Given the description of an element on the screen output the (x, y) to click on. 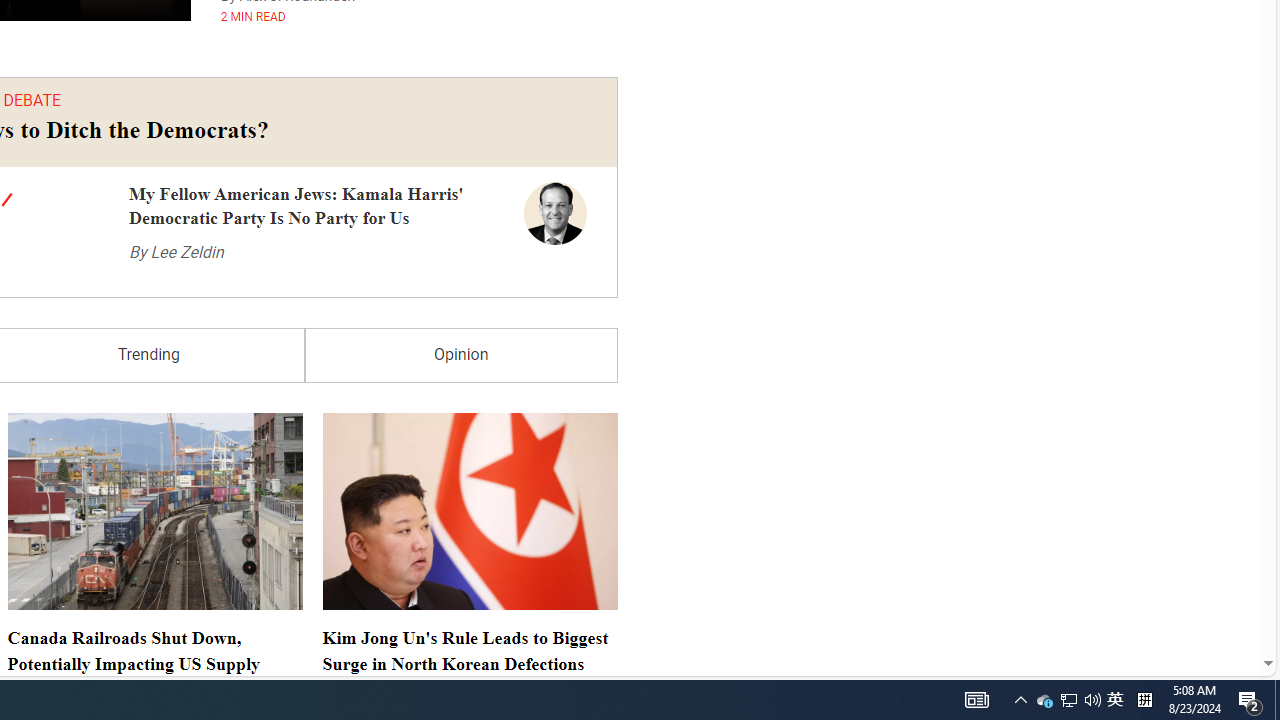
By Lee Zeldin (176, 252)
Opinion (461, 355)
